Given the description of an element on the screen output the (x, y) to click on. 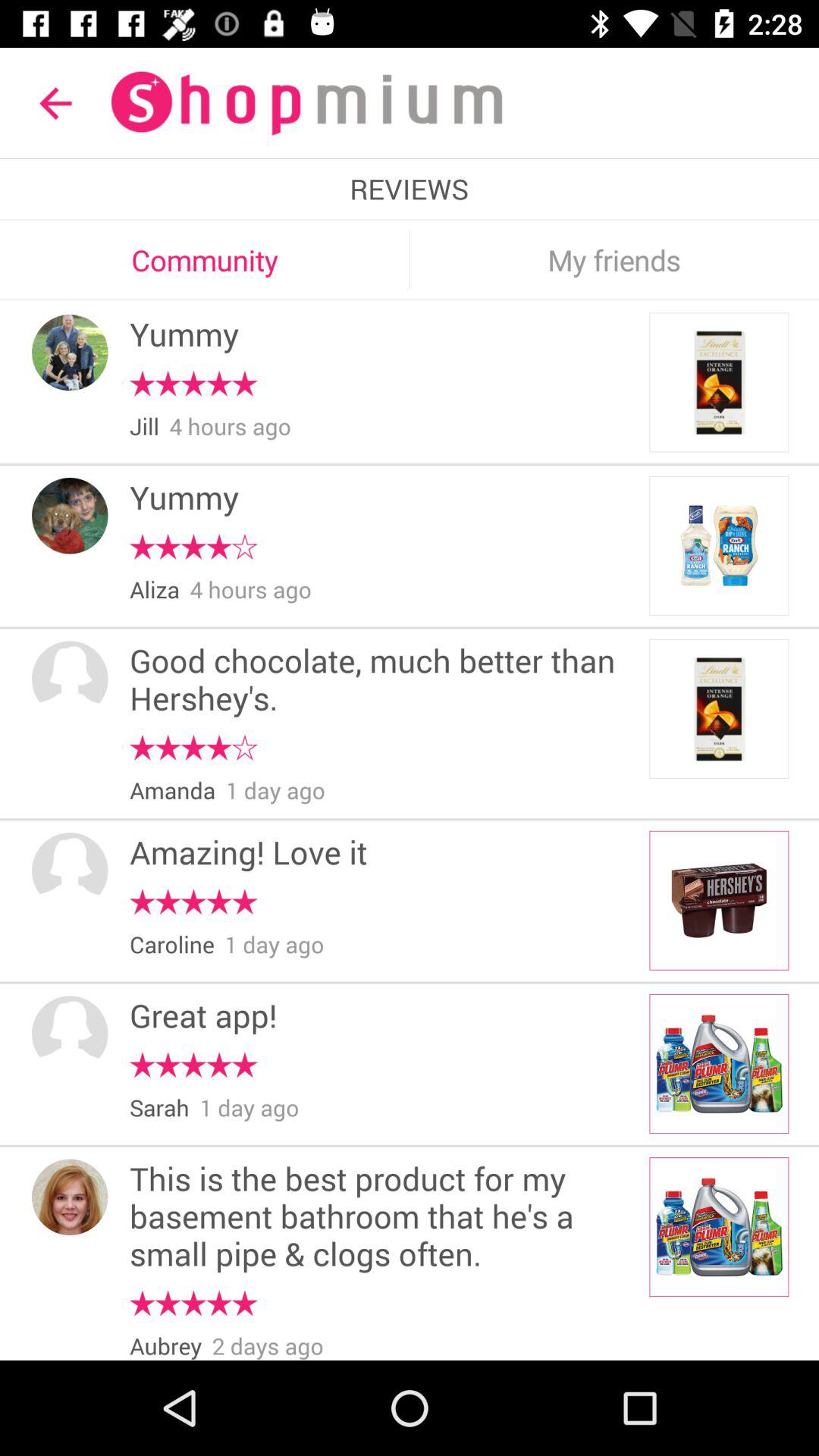
jump until the aubrey item (165, 1345)
